Given the description of an element on the screen output the (x, y) to click on. 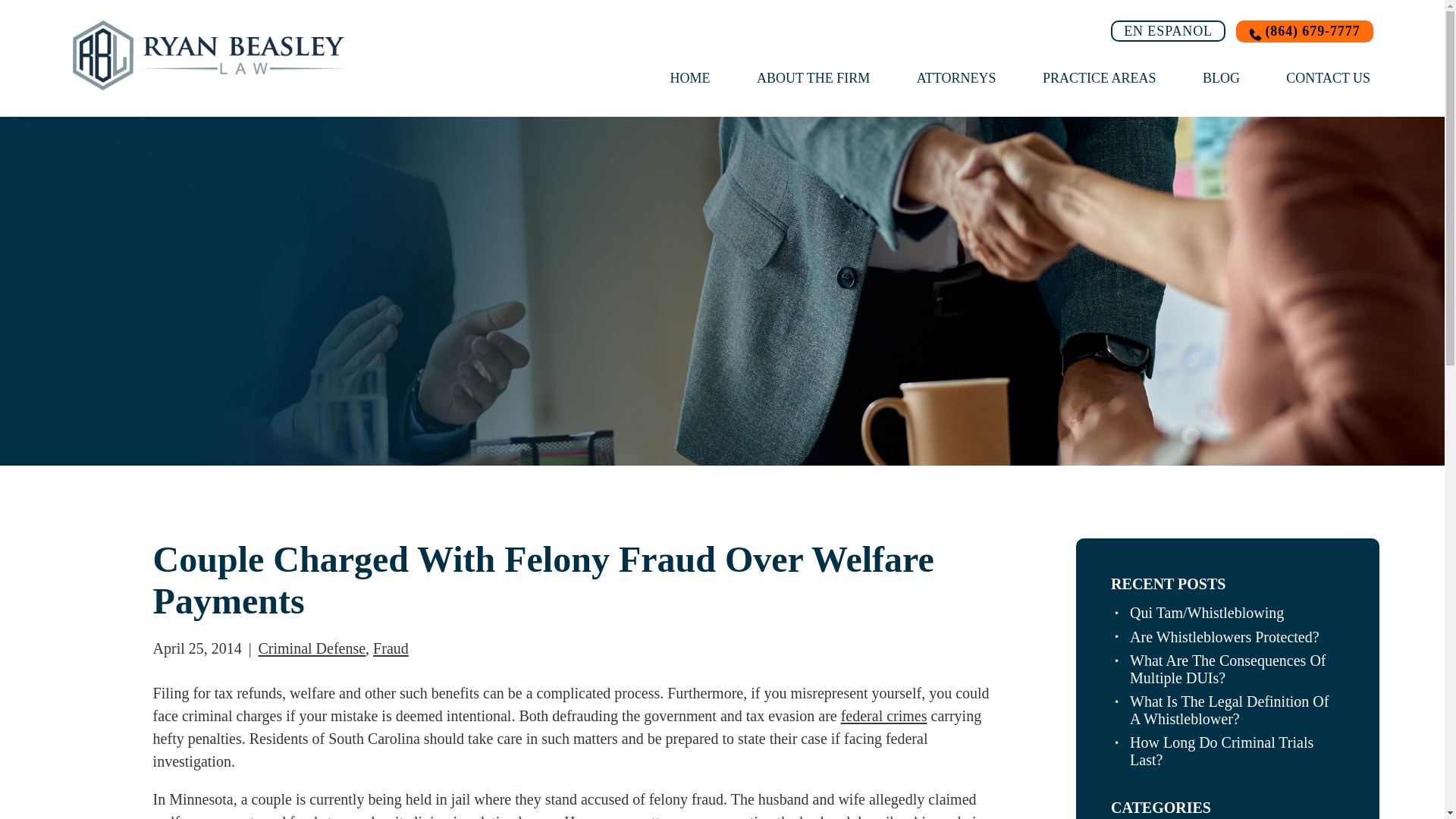
HOME (689, 77)
ABOUT THE FIRM (813, 77)
EN ESPANOL (1167, 30)
